Given the description of an element on the screen output the (x, y) to click on. 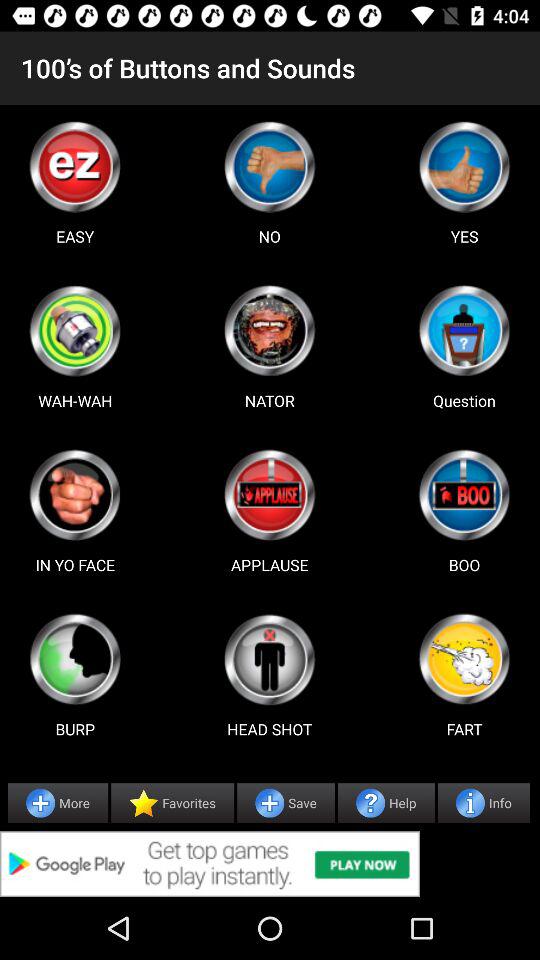
play in yo face (75, 495)
